Given the description of an element on the screen output the (x, y) to click on. 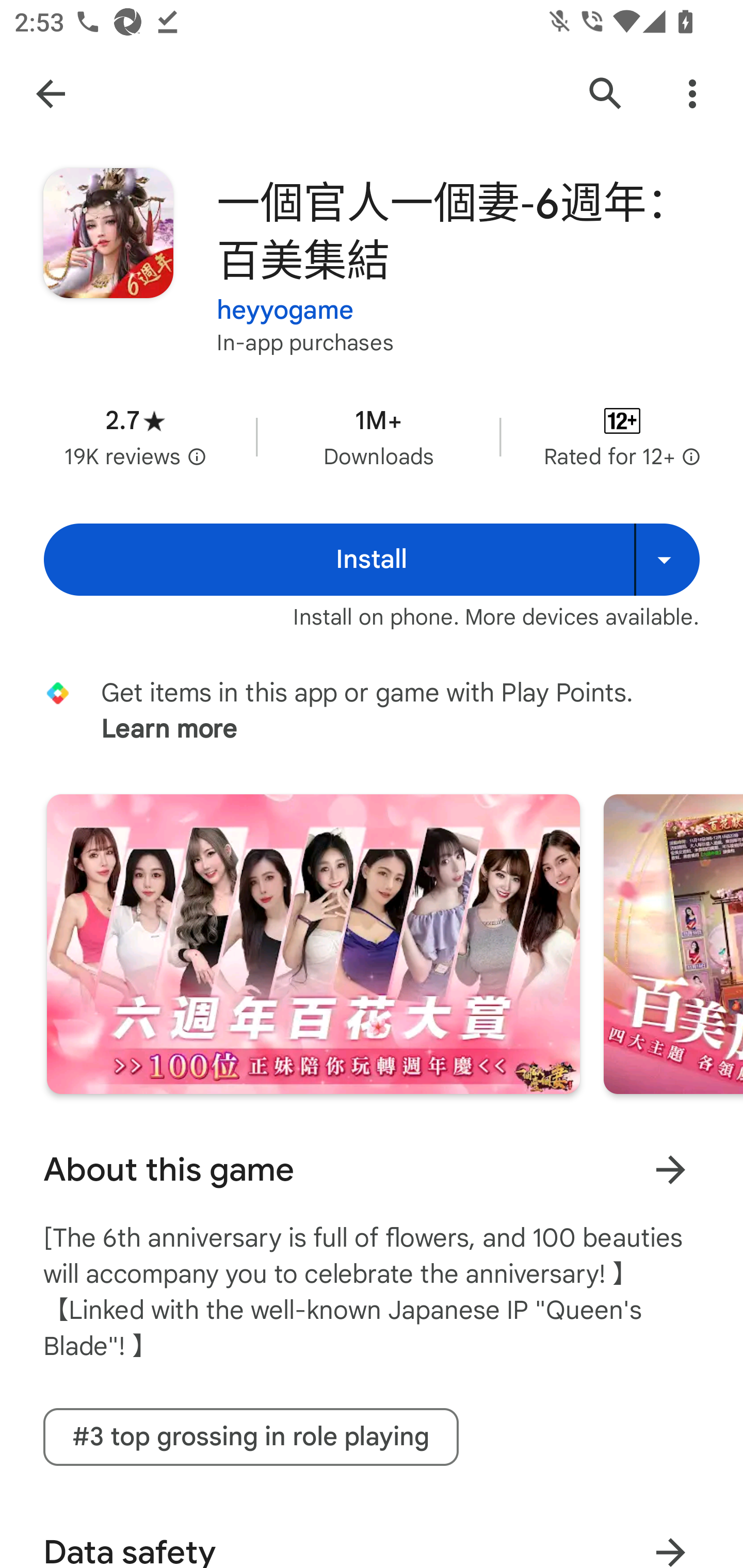
Navigate up (50, 93)
Search Google Play (605, 93)
More Options (692, 93)
heyyogame (284, 297)
Average rating 2.7 stars in 19 thousand reviews (135, 436)
Content rating Rated for 12+ (622, 436)
Install Install Install on more devices (371, 559)
Install on more devices (667, 559)
Screenshot "1" of "5" (313, 944)
About this game Learn more About this game (371, 1169)
Learn more About this game (670, 1169)
#3 top grossing in role playing tag (250, 1436)
Data safety Learn more about data safety (371, 1535)
Learn more about data safety (670, 1538)
